Given the description of an element on the screen output the (x, y) to click on. 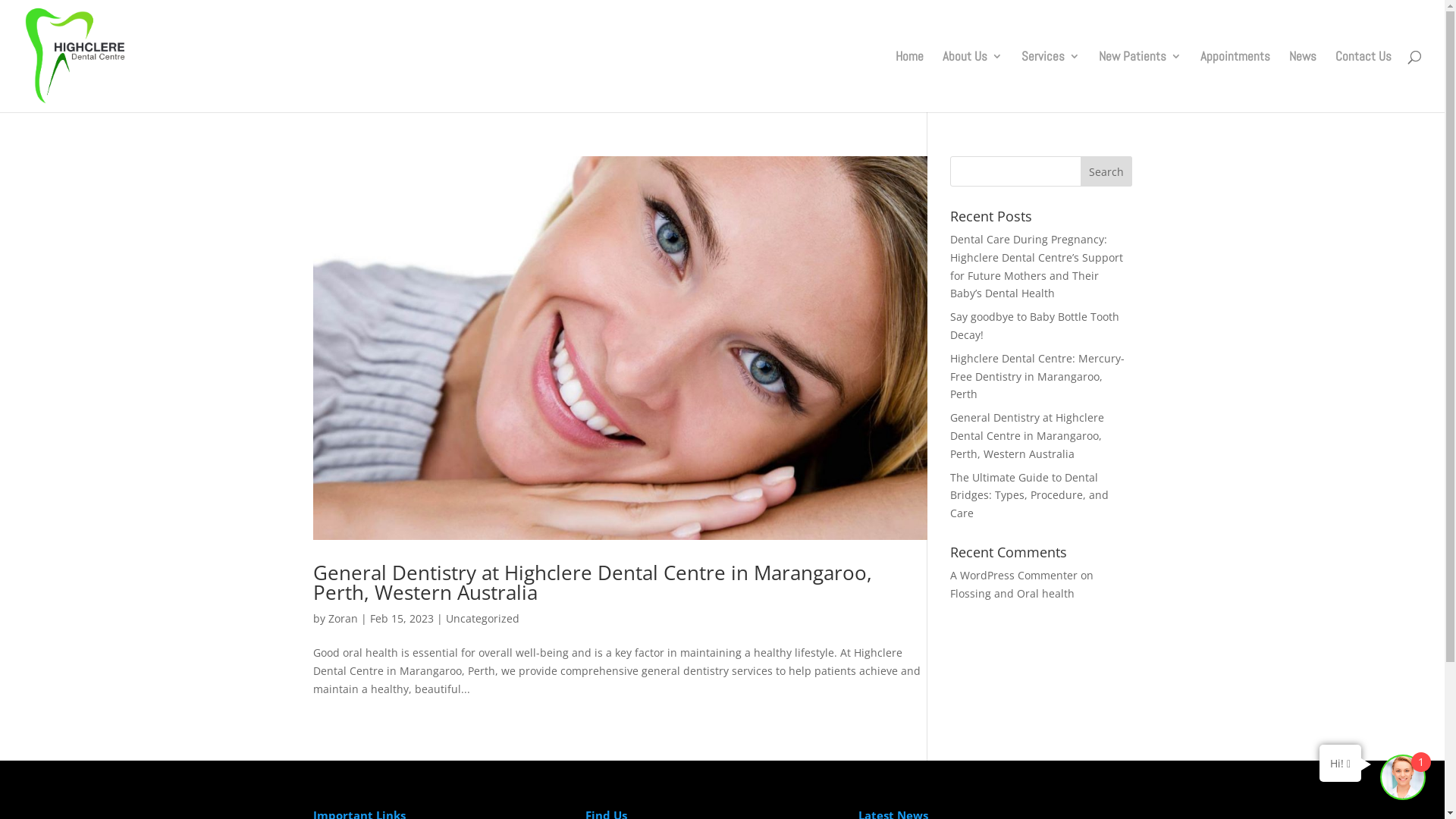
Contact Us Element type: text (1363, 81)
Appointments Element type: text (1235, 81)
About Us Element type: text (972, 81)
Say goodbye to Baby Bottle Tooth Decay! Element type: text (1033, 325)
A WordPress Commenter Element type: text (1012, 574)
News Element type: text (1302, 81)
Zoran Element type: text (342, 618)
Home Element type: text (909, 81)
Services Element type: text (1050, 81)
Search Element type: text (1106, 171)
New Patients Element type: text (1139, 81)
Uncategorized Element type: text (482, 618)
Flossing and Oral health Element type: text (1011, 593)
